Given the description of an element on the screen output the (x, y) to click on. 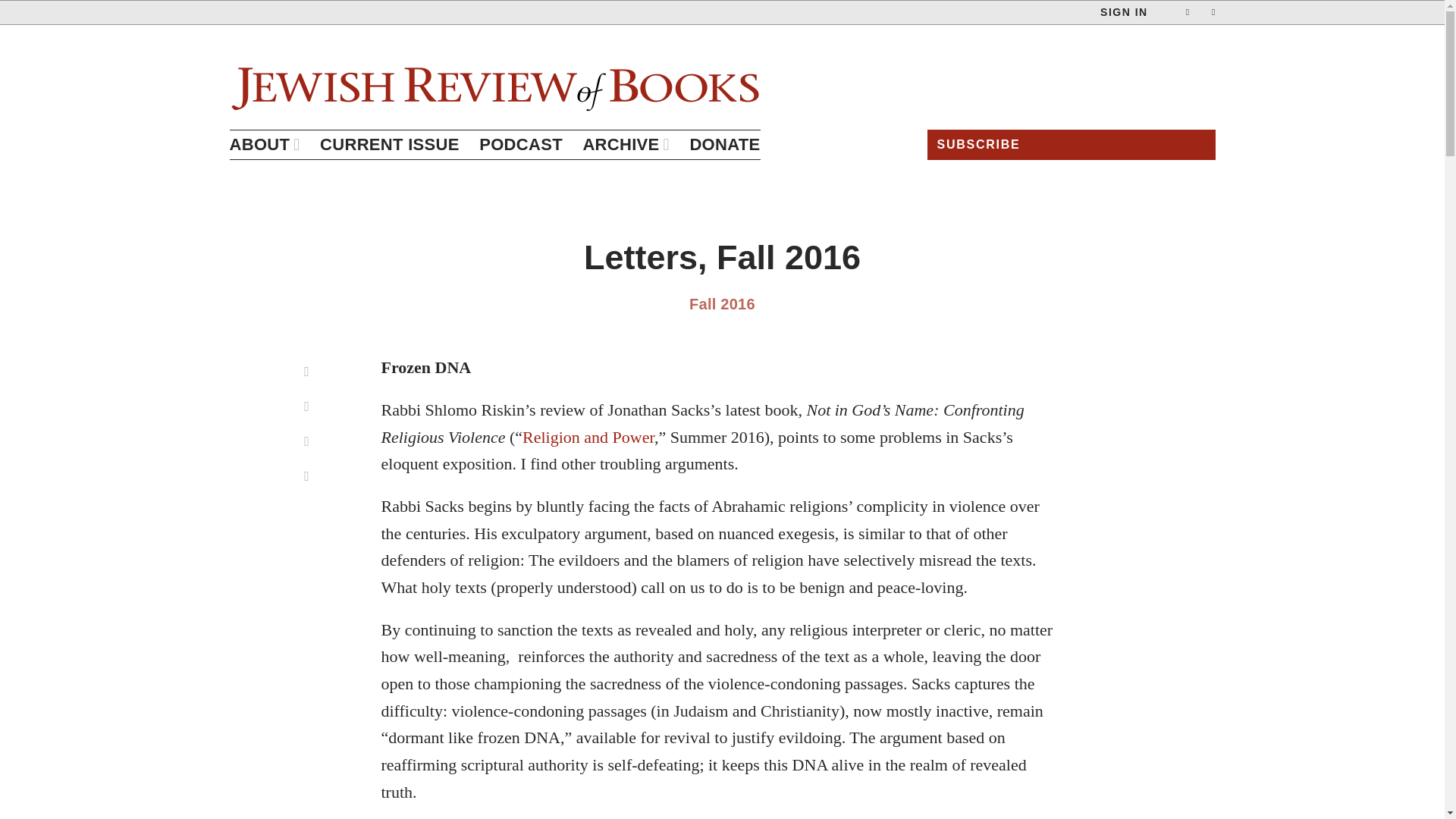
SUBSCRIBE (1070, 143)
Fall 2016 (721, 303)
SIGN IN (1124, 12)
DONATE (724, 144)
ABOUT (263, 144)
Twitter (306, 475)
Facebook (306, 441)
Religion and Power (587, 436)
PODCAST (520, 144)
CURRENT ISSUE (390, 144)
